Given the description of an element on the screen output the (x, y) to click on. 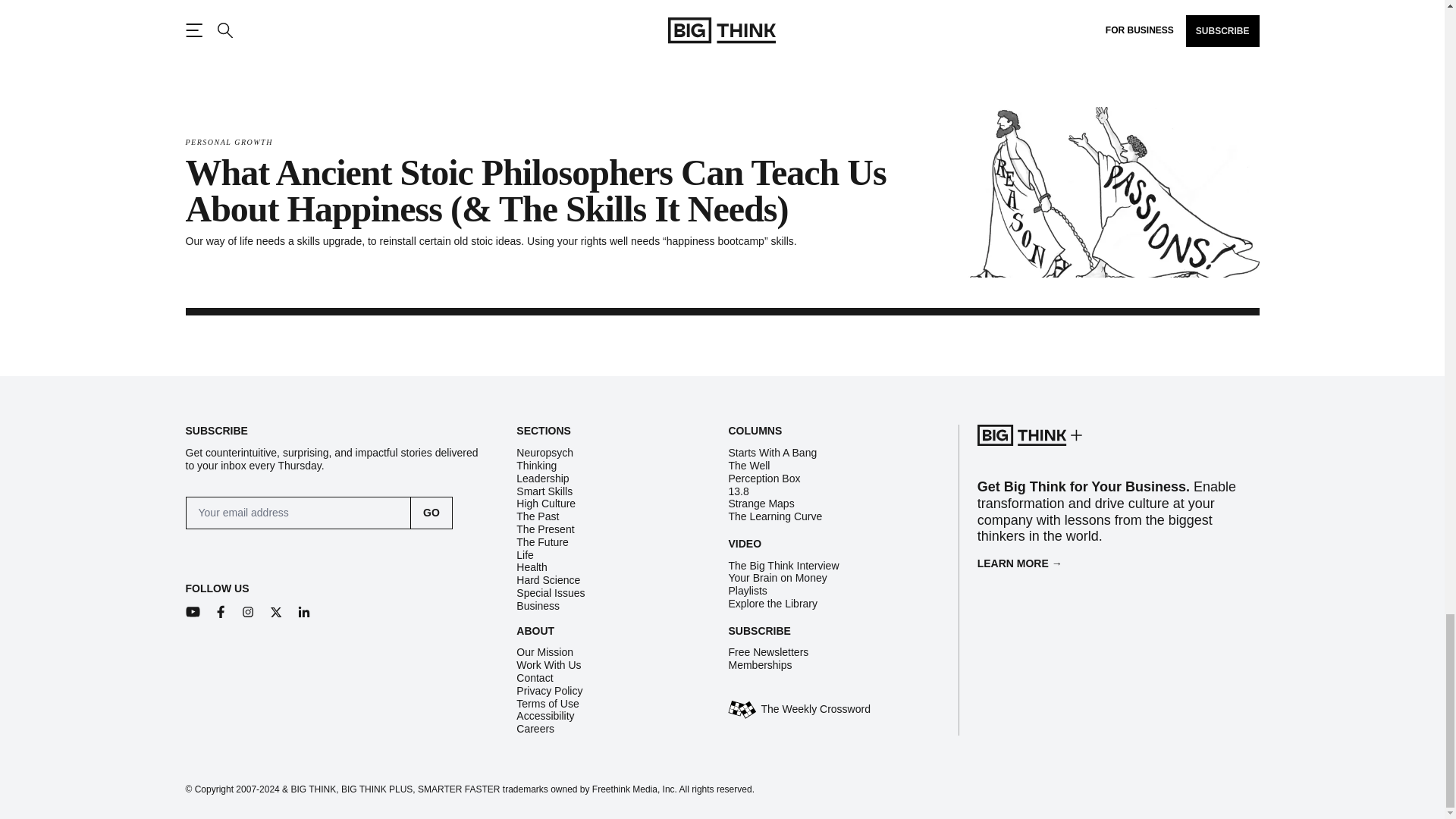
Go (431, 512)
